Given the description of an element on the screen output the (x, y) to click on. 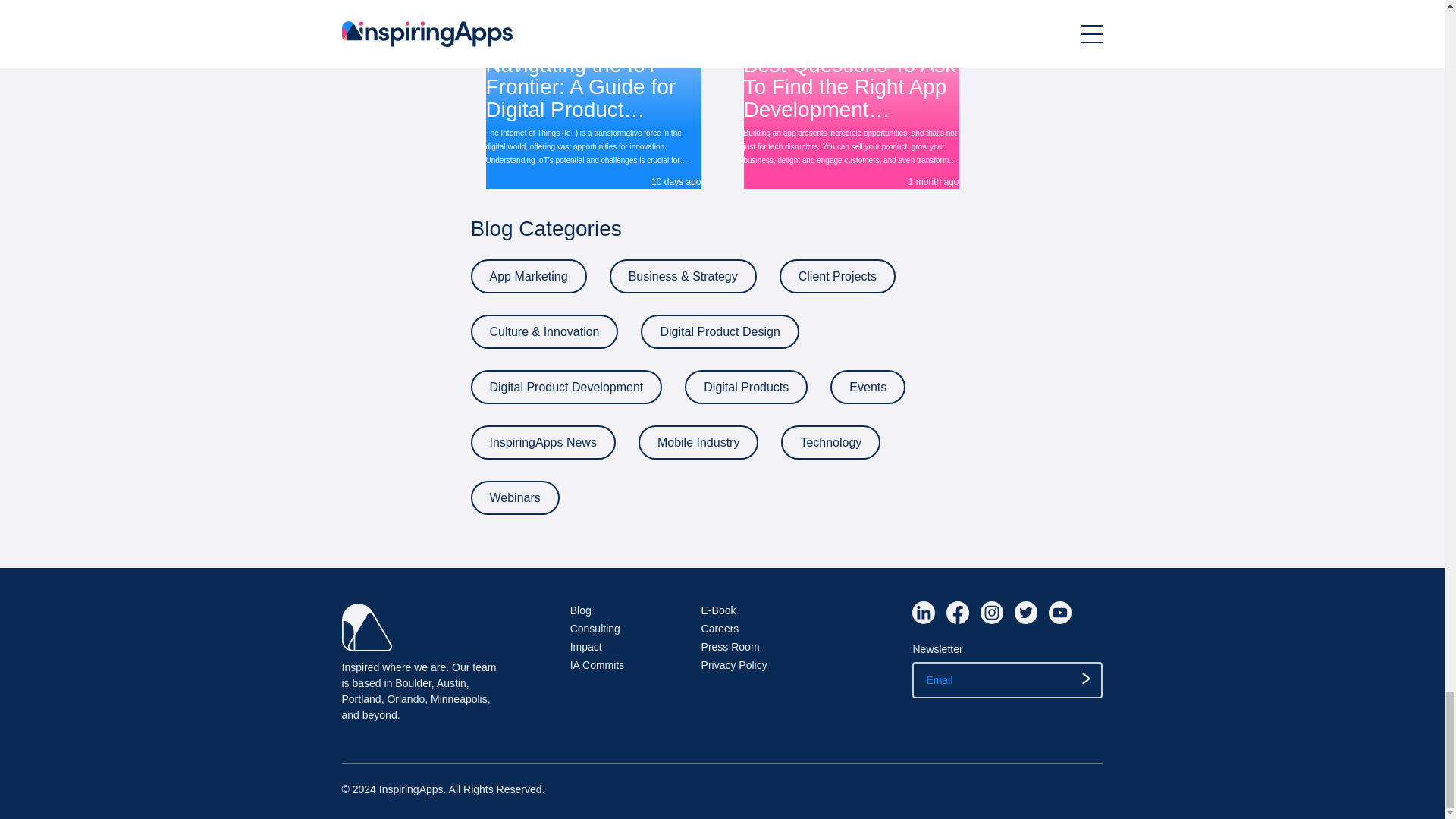
IA Commits (597, 664)
Privacy Policy (734, 664)
E-Book (718, 610)
Impact (586, 646)
Blog (580, 610)
Careers (720, 628)
Press Room (730, 646)
Consulting (595, 628)
